Given the description of an element on the screen output the (x, y) to click on. 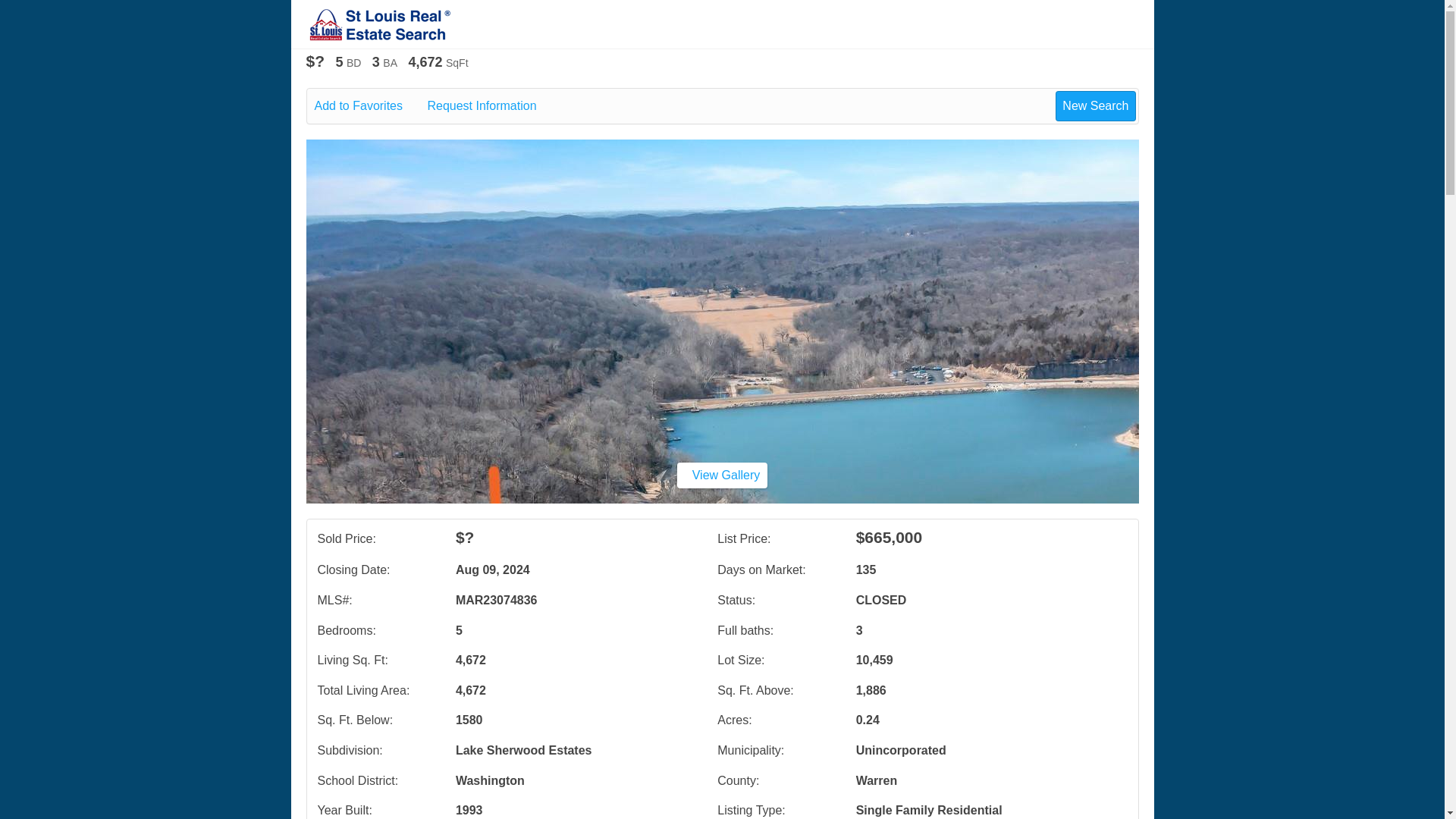
View Gallery (722, 475)
New Search (1095, 105)
Request Information (491, 106)
View Gallery (722, 474)
Add to Favorites (368, 106)
